Given the description of an element on the screen output the (x, y) to click on. 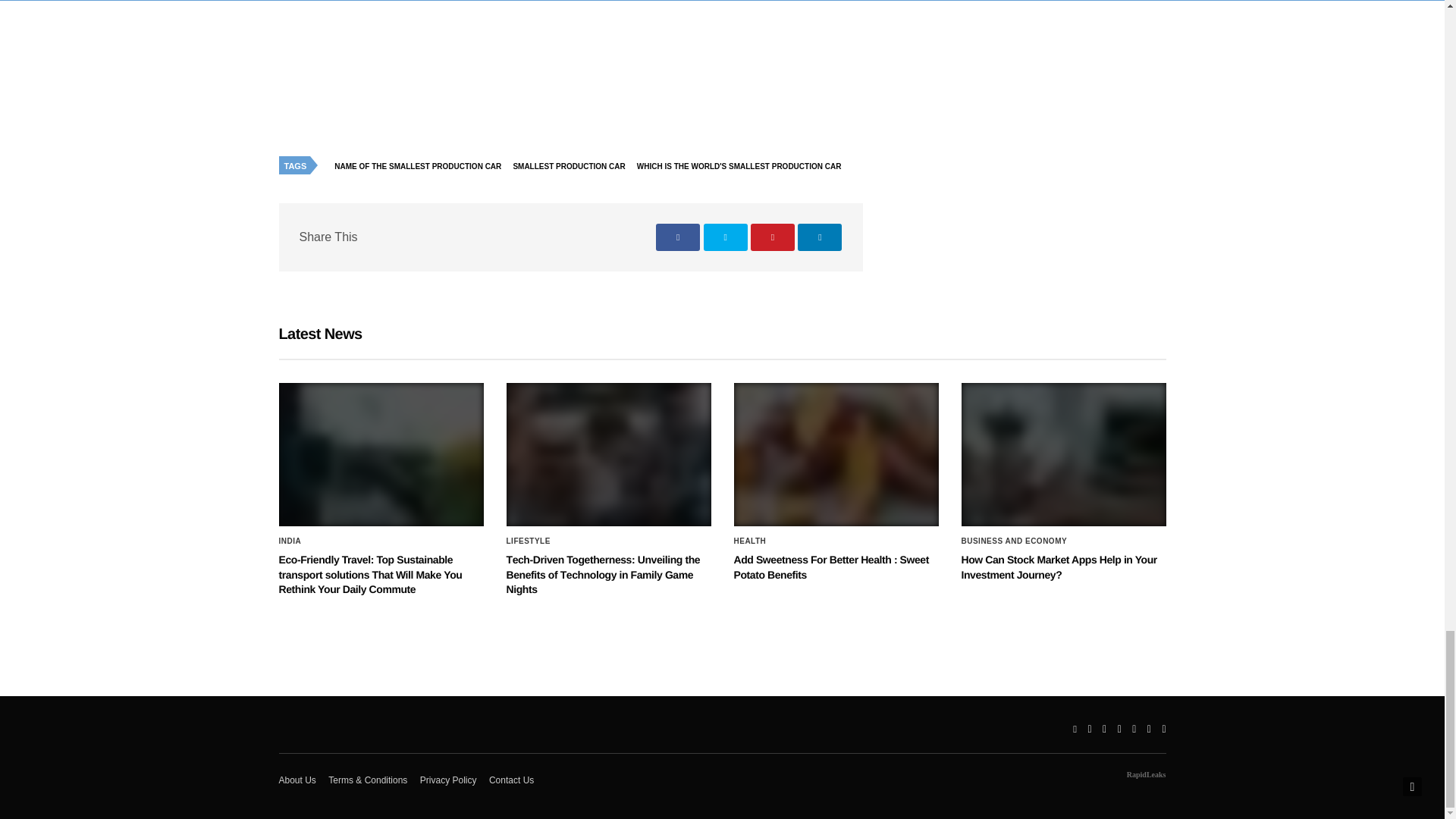
Add Sweetness For Better Health : Sweet Potato Benefits (836, 454)
Health (750, 541)
India (290, 541)
Add Sweetness For Better Health : Sweet Potato Benefits (830, 566)
Lifestyle (528, 541)
